Given the description of an element on the screen output the (x, y) to click on. 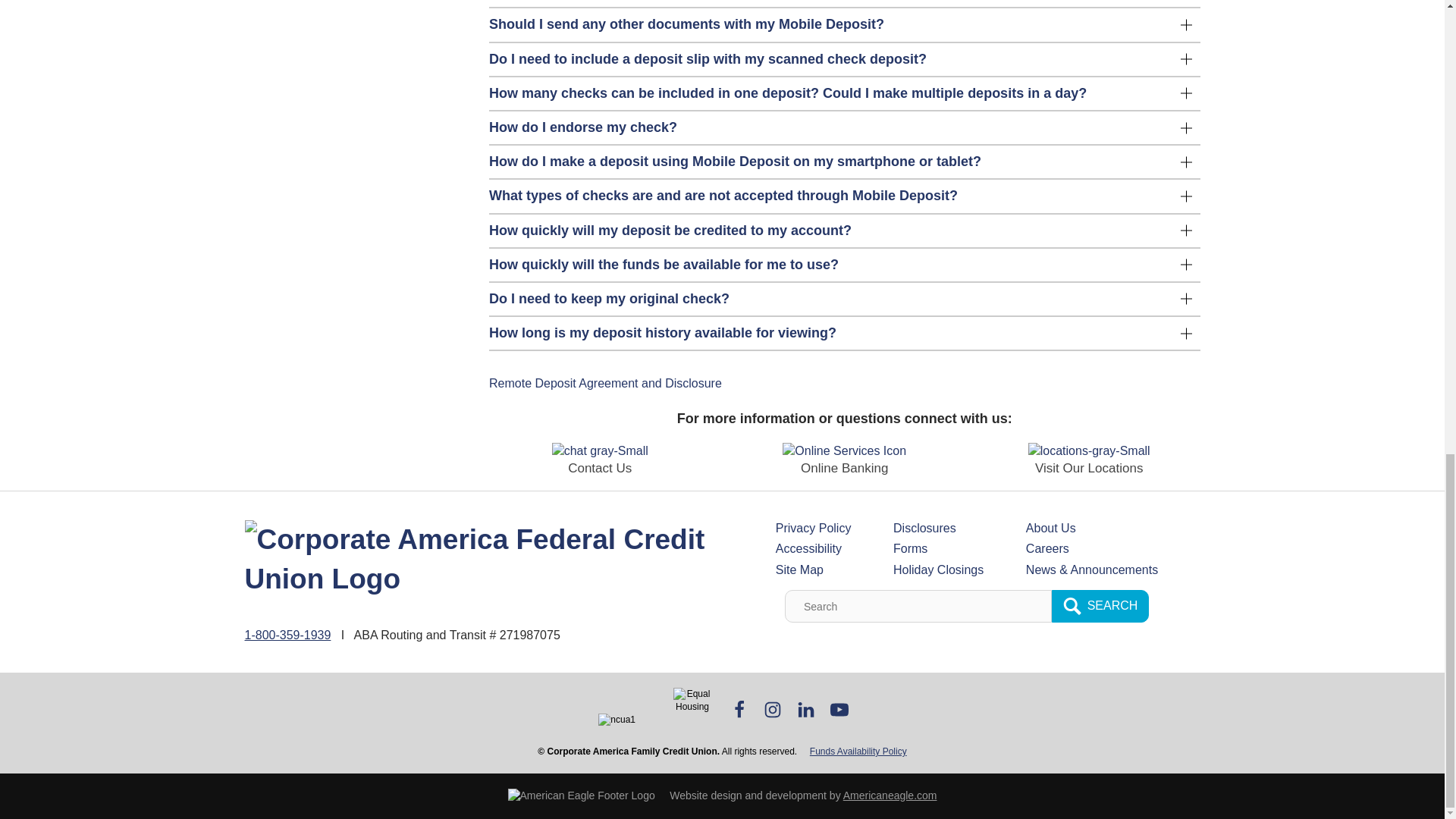
Search input (917, 605)
chat gray-Small (599, 451)
Corporate America Federal Credit Union Logo (477, 559)
locations-gray-Small (1088, 451)
AE Footer Logo (581, 795)
